Given the description of an element on the screen output the (x, y) to click on. 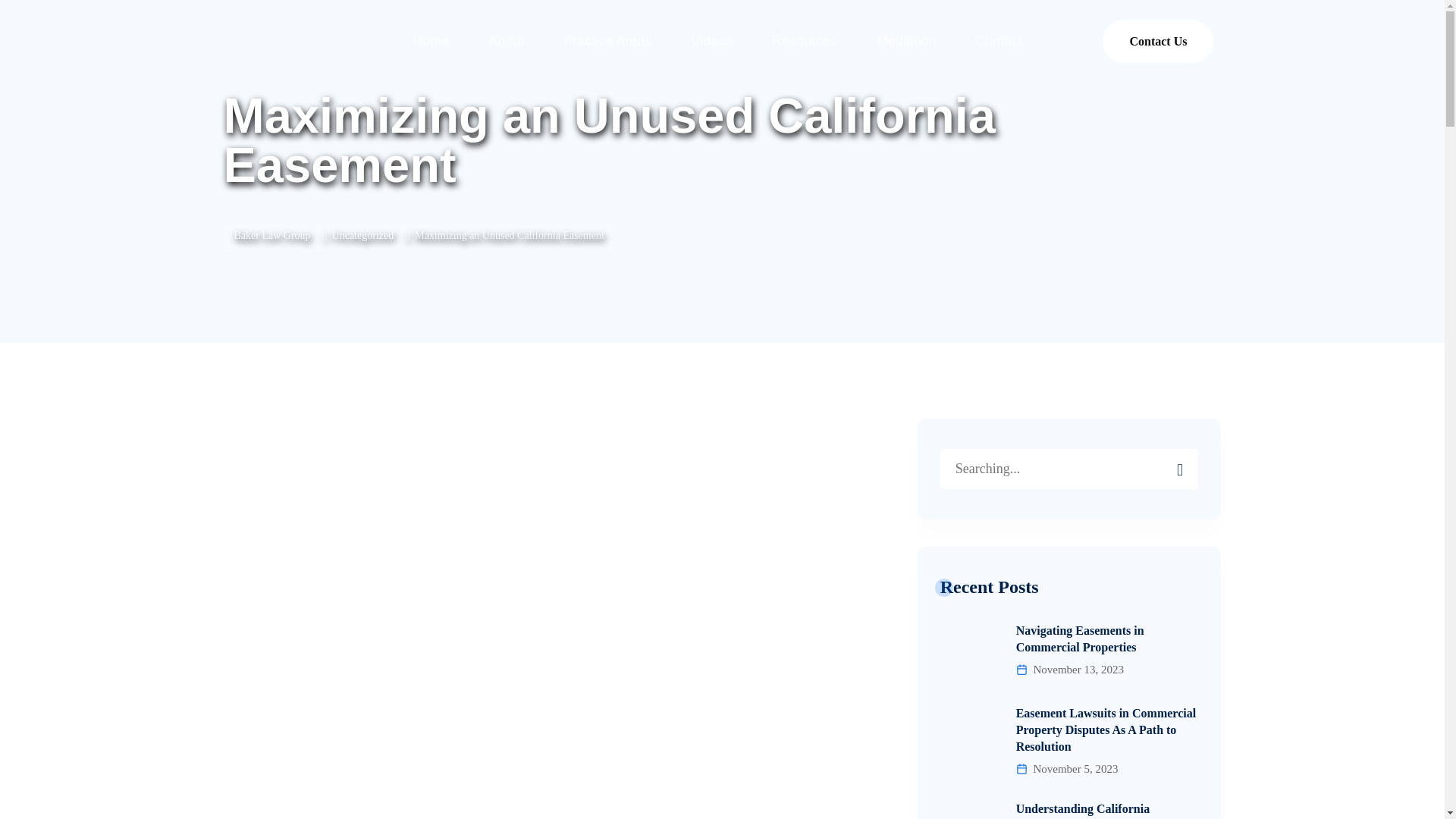
Practice Areas (607, 41)
Go to Baker Law Group. (271, 235)
About (505, 41)
Go to the Uncategorized Category archives. (362, 235)
Uncategorized (362, 235)
Home (430, 41)
Navigating Easements in Commercial Properties (1069, 639)
Resources (804, 41)
